Given the description of an element on the screen output the (x, y) to click on. 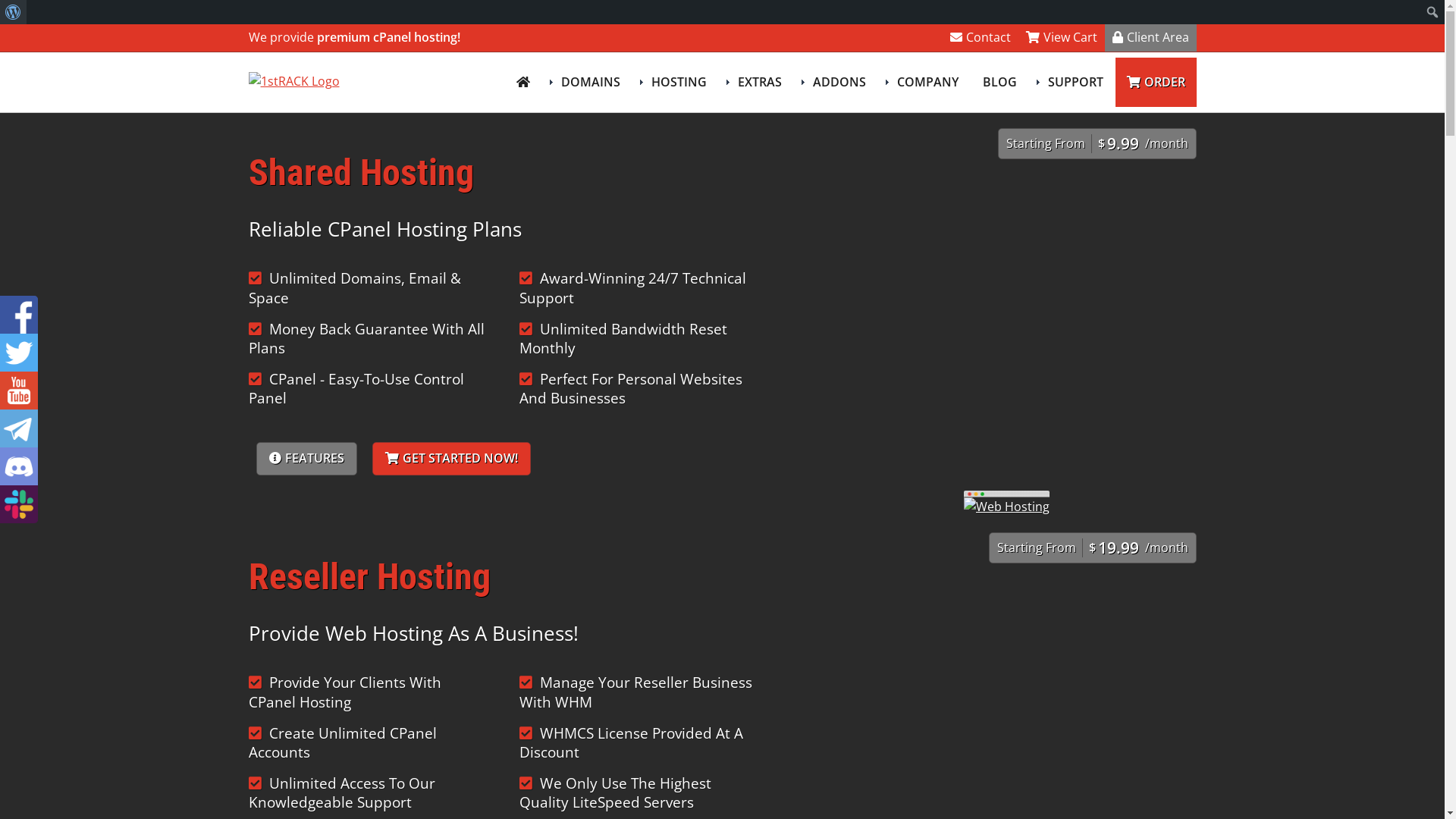
1stRACK Twitter Element type: hover (18, 352)
Contact Element type: text (979, 37)
BLOG Element type: text (999, 81)
1stRACK YouTube Element type: hover (18, 390)
FEATURES Element type: text (306, 458)
ORDER Element type: text (1154, 81)
COMPANY Element type: text (924, 81)
GET STARTED NOW! Element type: text (450, 458)
1stRACK Facebook Element type: hover (18, 314)
Search Element type: text (17, 13)
EXTRAS Element type: text (755, 81)
ADDONS Element type: text (835, 81)
1stRACK discord Element type: hover (18, 466)
Client Area Element type: text (1149, 37)
SUPPORT Element type: text (1071, 81)
1stRACK Slack Element type: hover (18, 504)
View Cart Element type: text (1060, 37)
HOSTING Element type: text (675, 81)
1stRACK Telegram Element type: hover (18, 428)
DOMAINS Element type: text (586, 81)
